Given the description of an element on the screen output the (x, y) to click on. 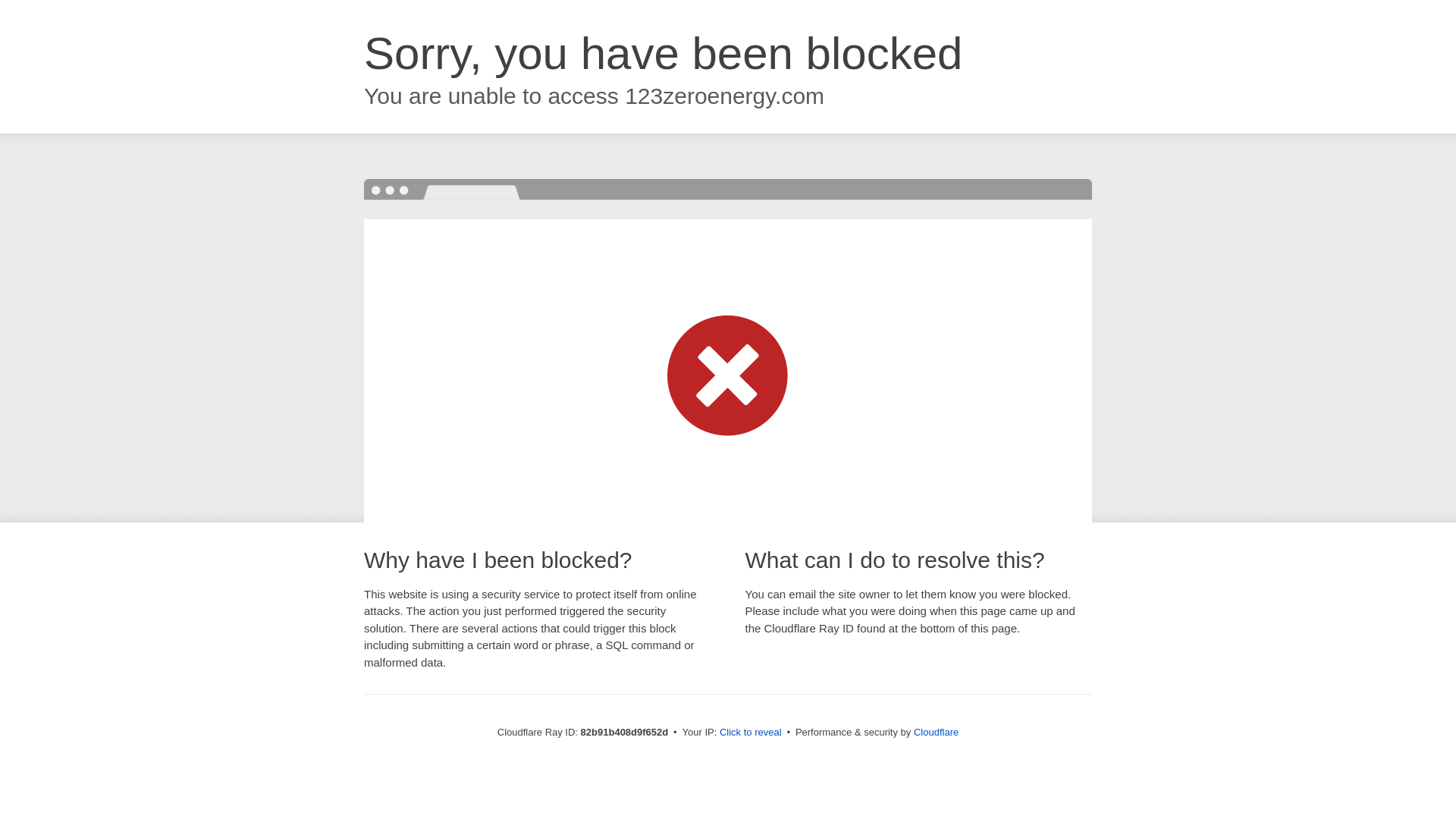
Click to reveal Element type: text (750, 732)
Cloudflare Element type: text (935, 731)
